Given the description of an element on the screen output the (x, y) to click on. 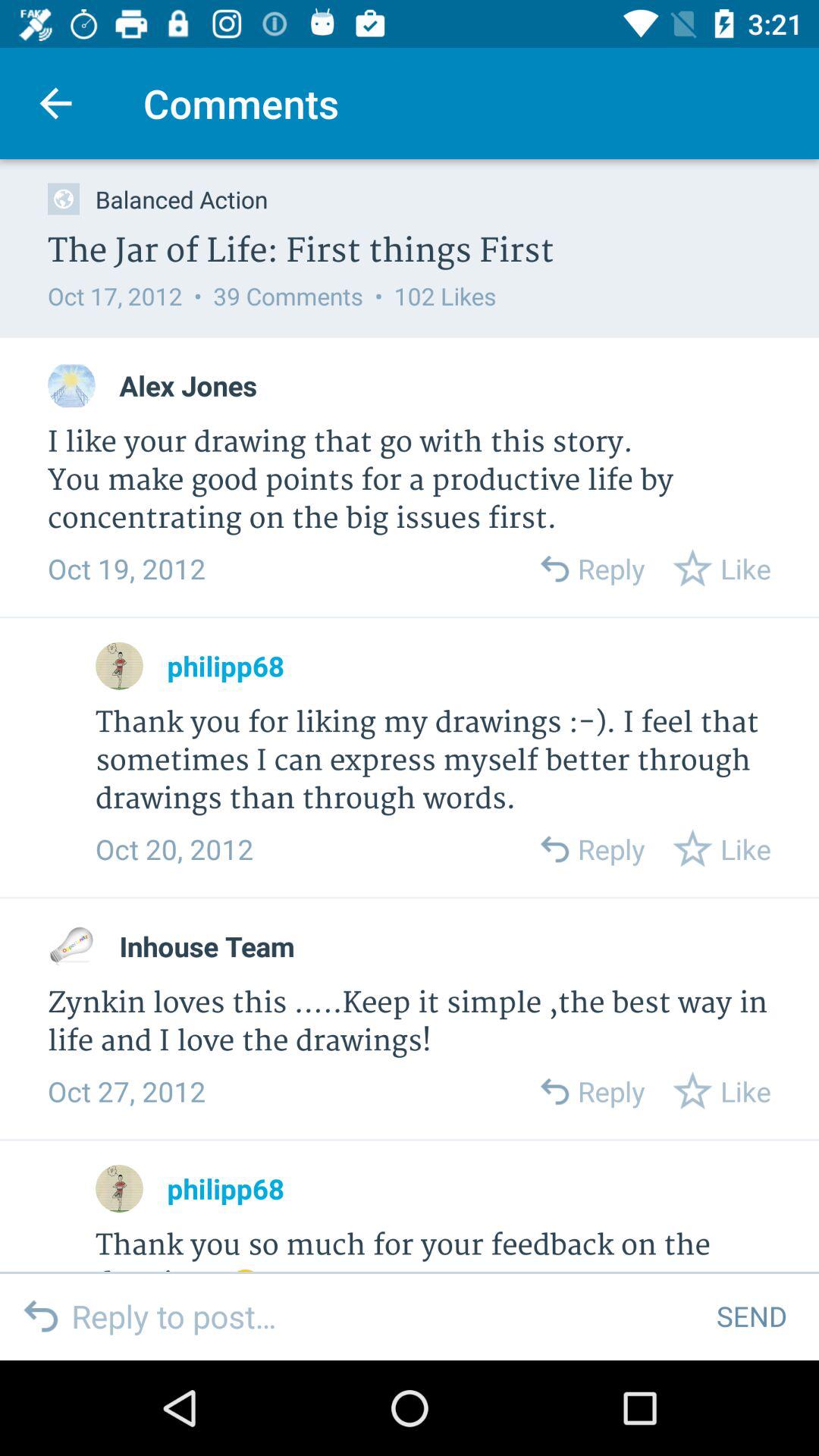
select item next to the comments icon (55, 103)
